Given the description of an element on the screen output the (x, y) to click on. 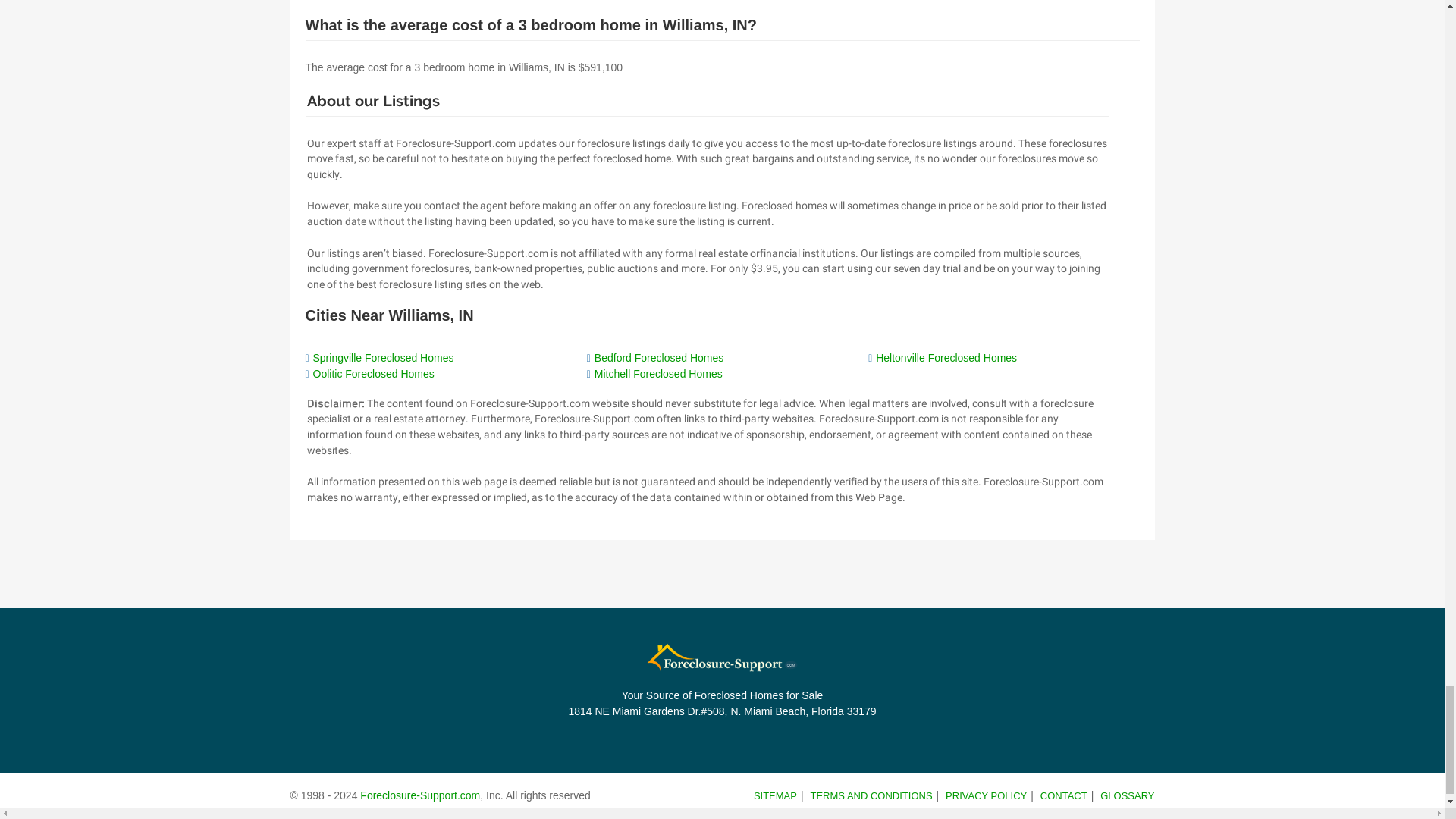
Springville (382, 357)
Oolitic (373, 373)
Heltonville (946, 357)
Bedford (658, 357)
Mitchell (658, 373)
